Given the description of an element on the screen output the (x, y) to click on. 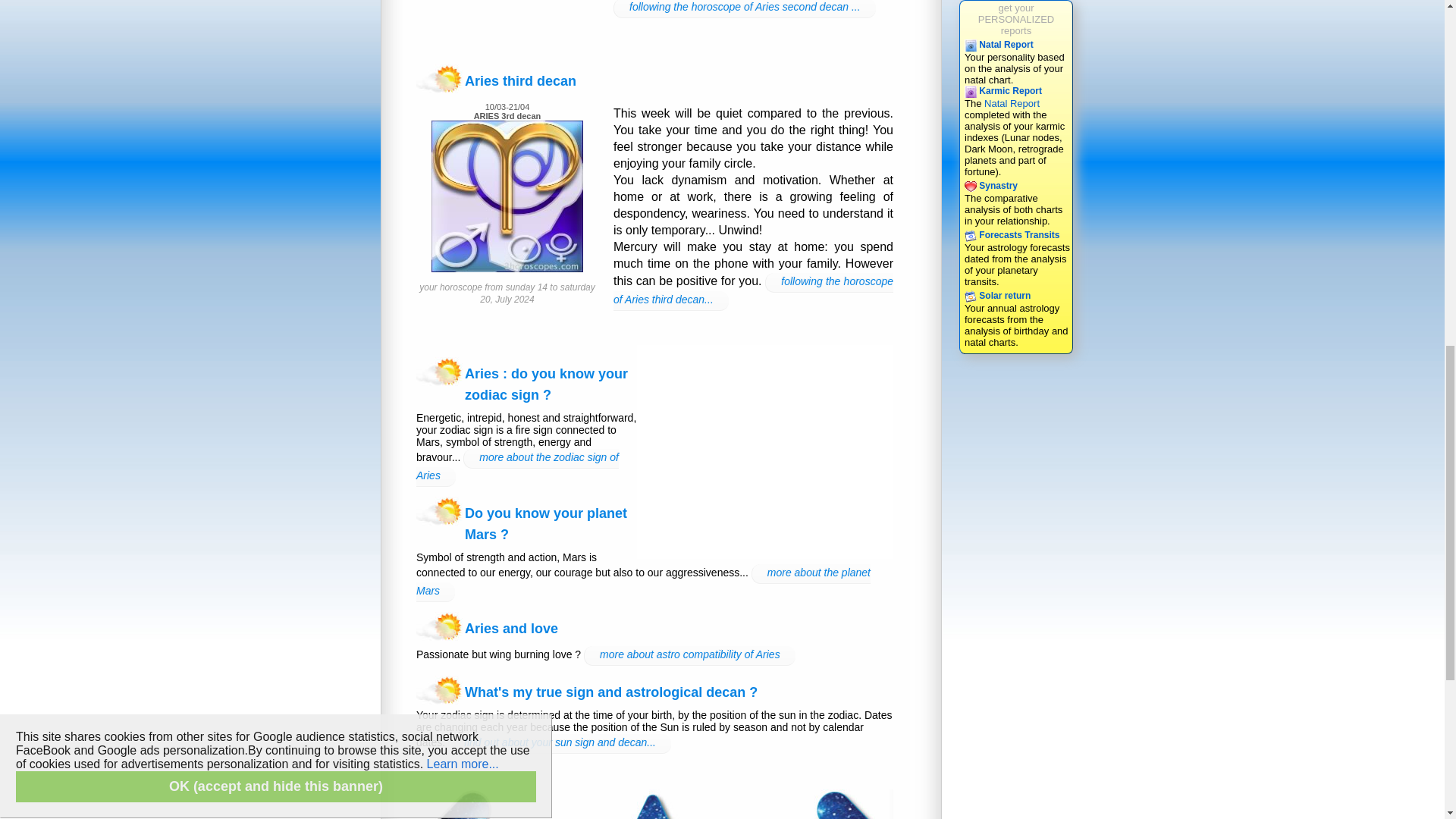
analysis of the character from your natal chart (1016, 19)
Synastry (1011, 102)
analysis of the character from your natal chart (990, 185)
Karmic Report (998, 44)
Natal Report (1002, 90)
Forecasts Transits (1011, 102)
Natal Report (1011, 235)
Solar return (998, 44)
Click here to view all astrological reports available (996, 295)
